Given the description of an element on the screen output the (x, y) to click on. 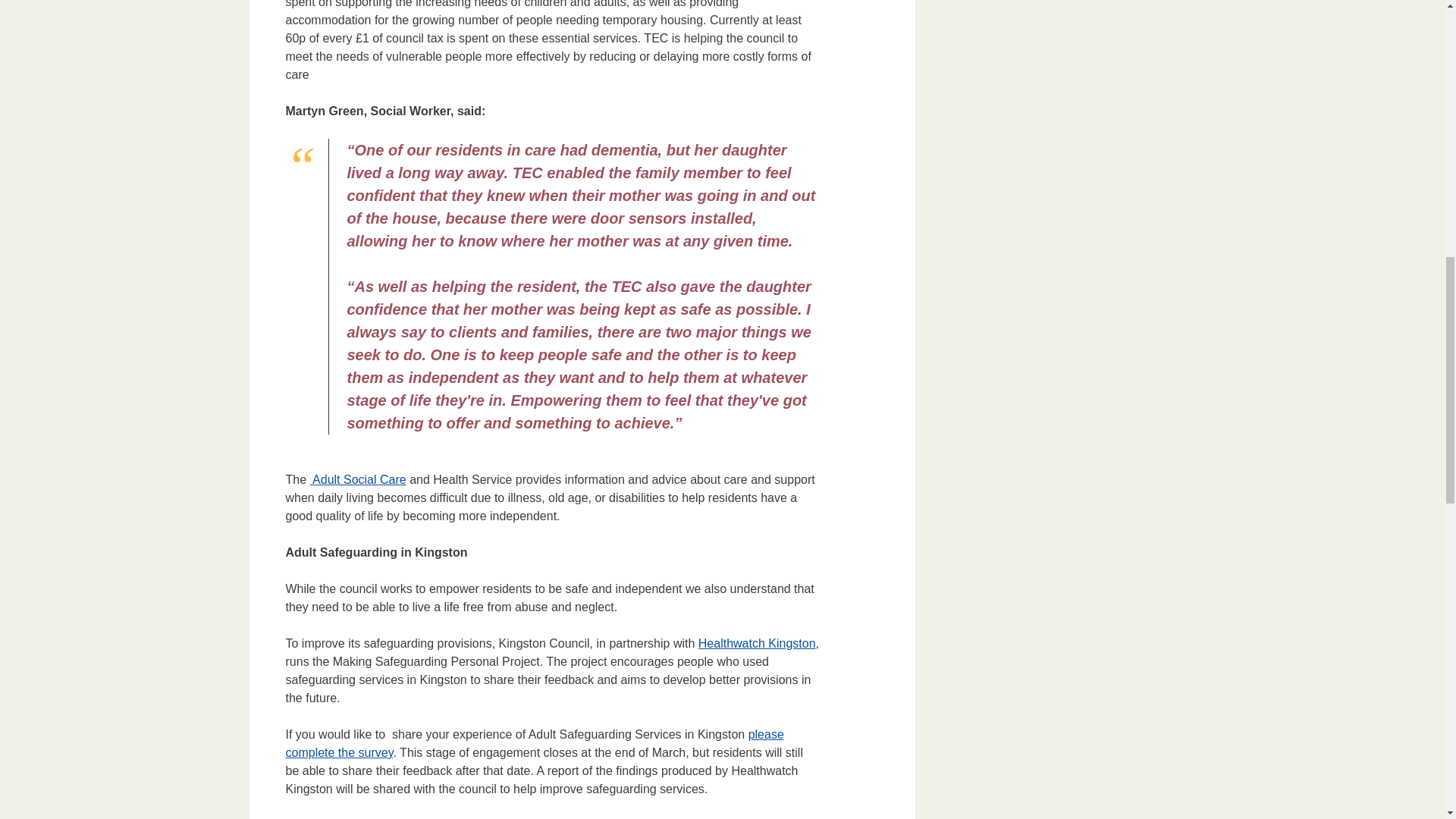
please complete the survey (534, 743)
Healthwatch Kingston (756, 643)
Adult Social Care (358, 479)
